Given the description of an element on the screen output the (x, y) to click on. 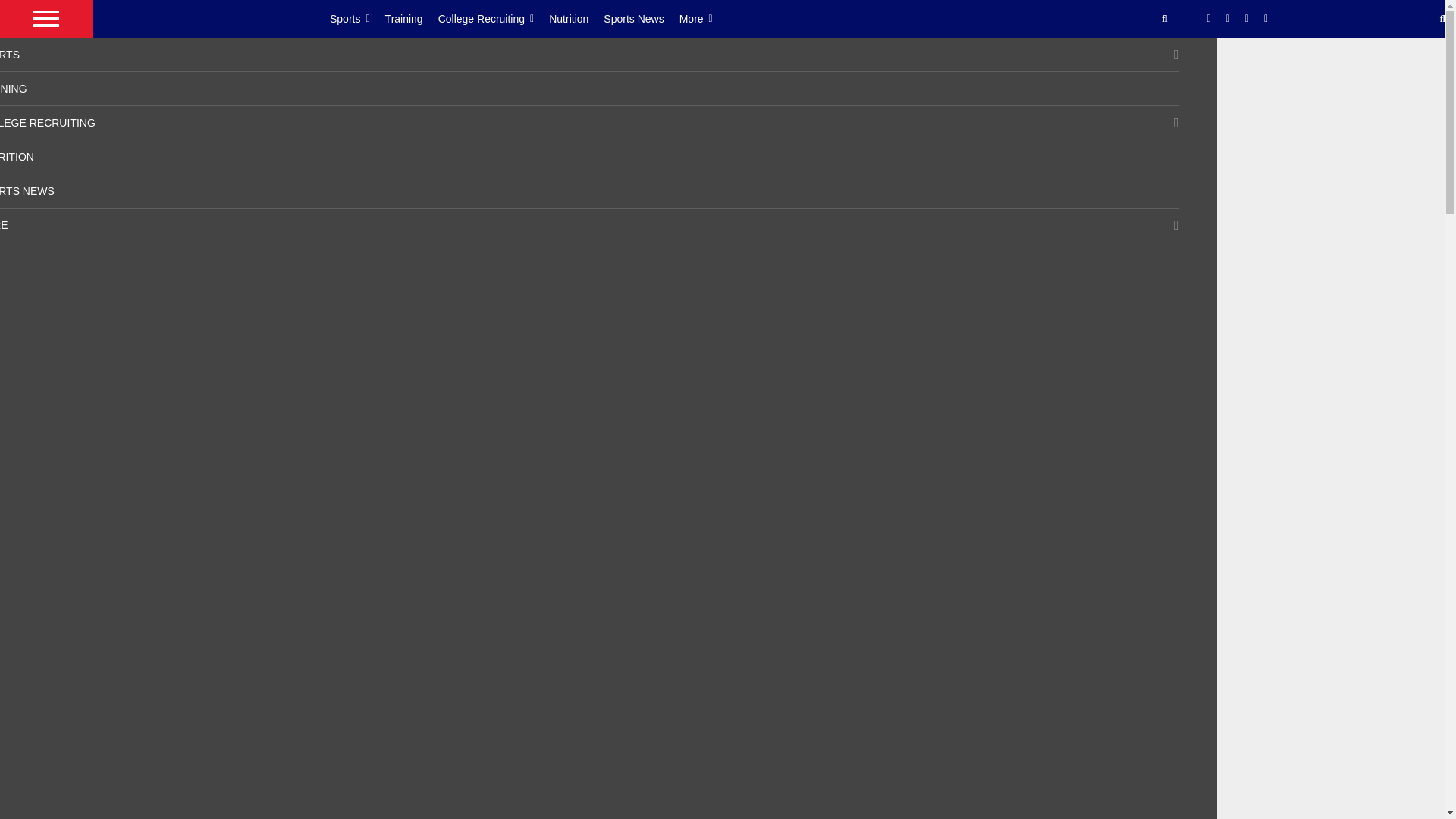
Sports News (641, 18)
Training (411, 18)
More (703, 18)
Sports (357, 18)
Nutrition (576, 18)
SPORTS (10, 54)
College Recruiting (494, 18)
